Given the description of an element on the screen output the (x, y) to click on. 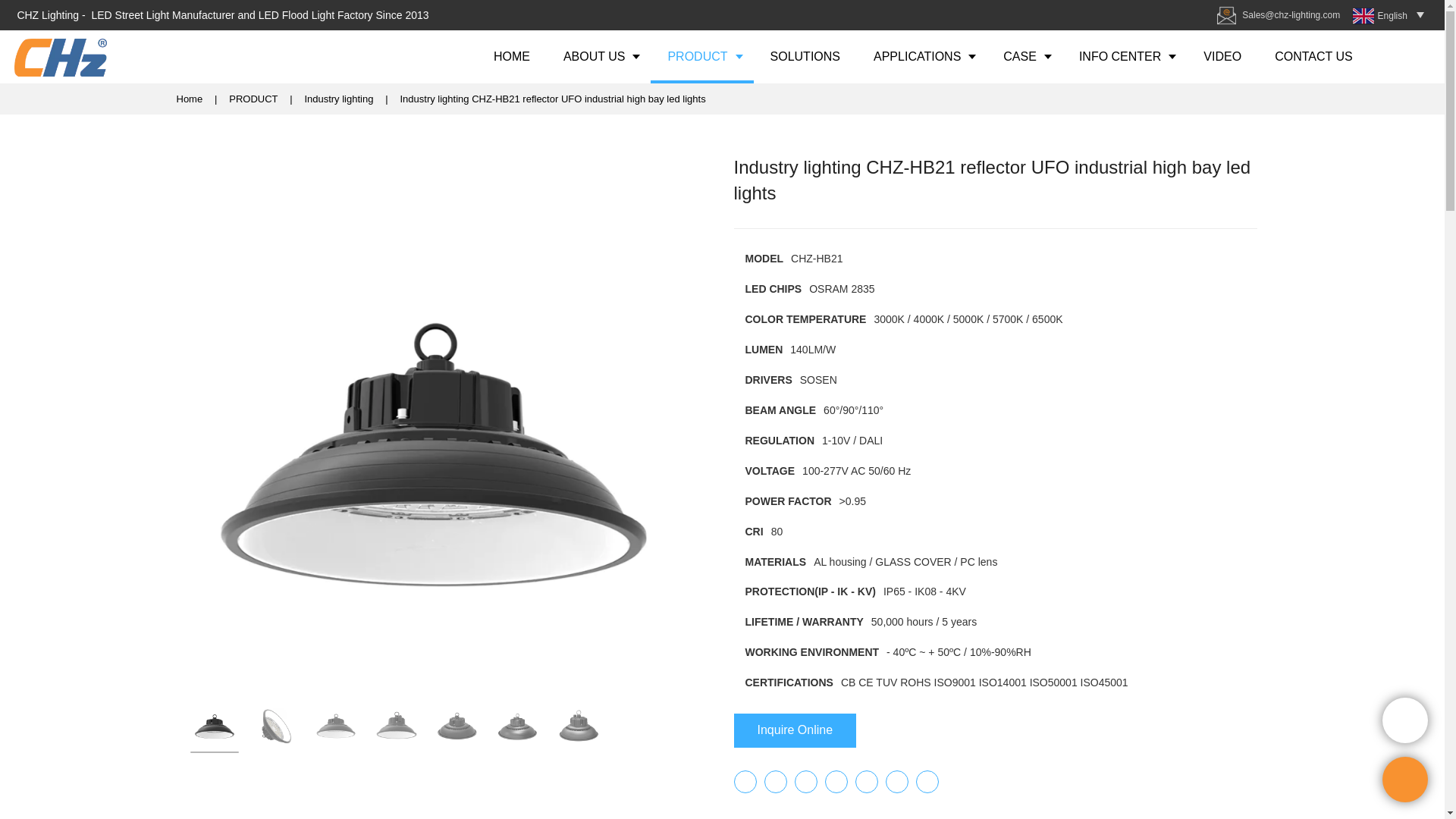
APPLICATIONS (922, 56)
PRODUCT (701, 56)
HOME (512, 56)
SOLUTIONS (805, 56)
ABOUT US (598, 56)
CASE (1024, 56)
